Given the description of an element on the screen output the (x, y) to click on. 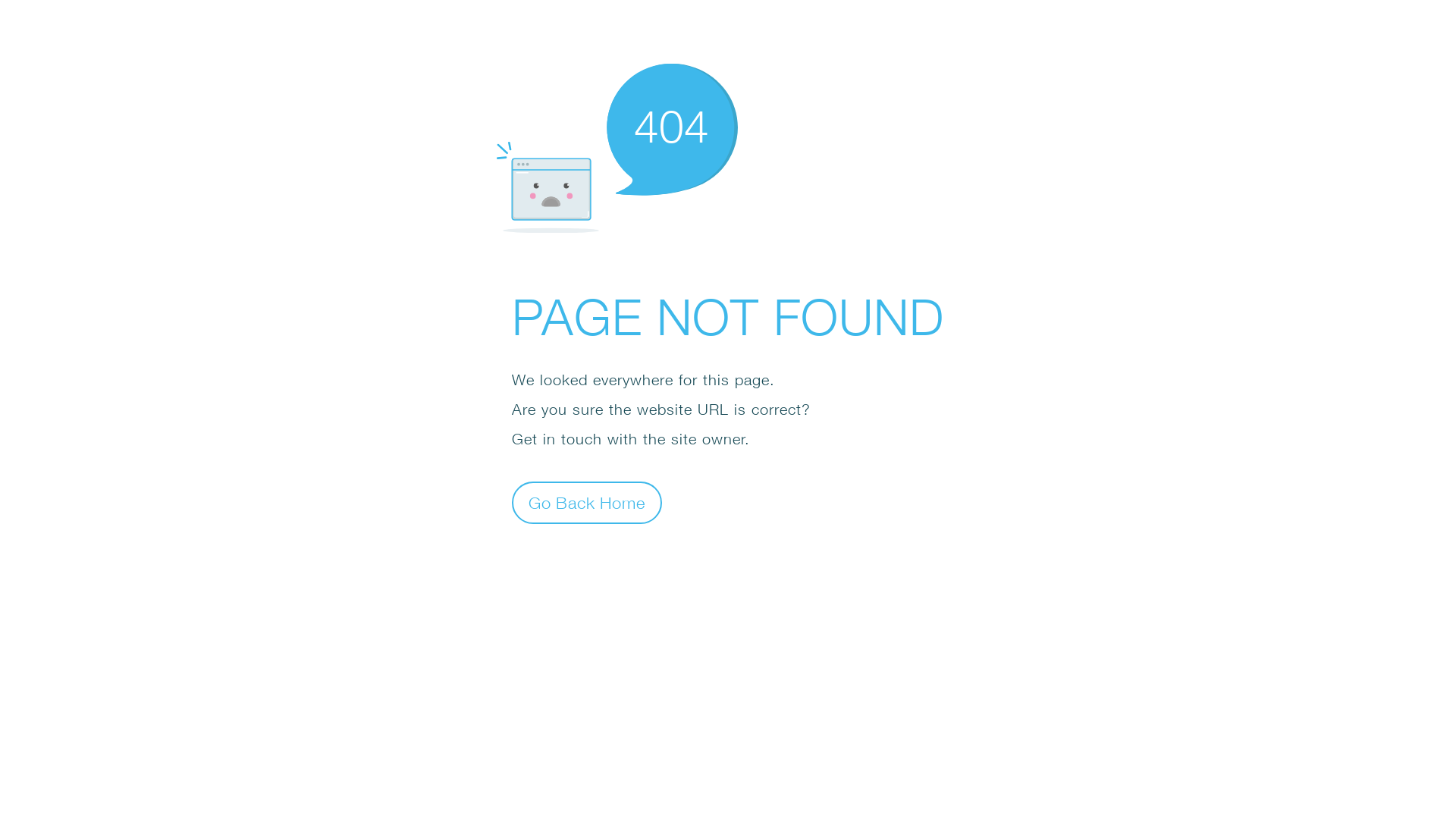
Go Back Home Element type: text (586, 502)
